Given the description of an element on the screen output the (x, y) to click on. 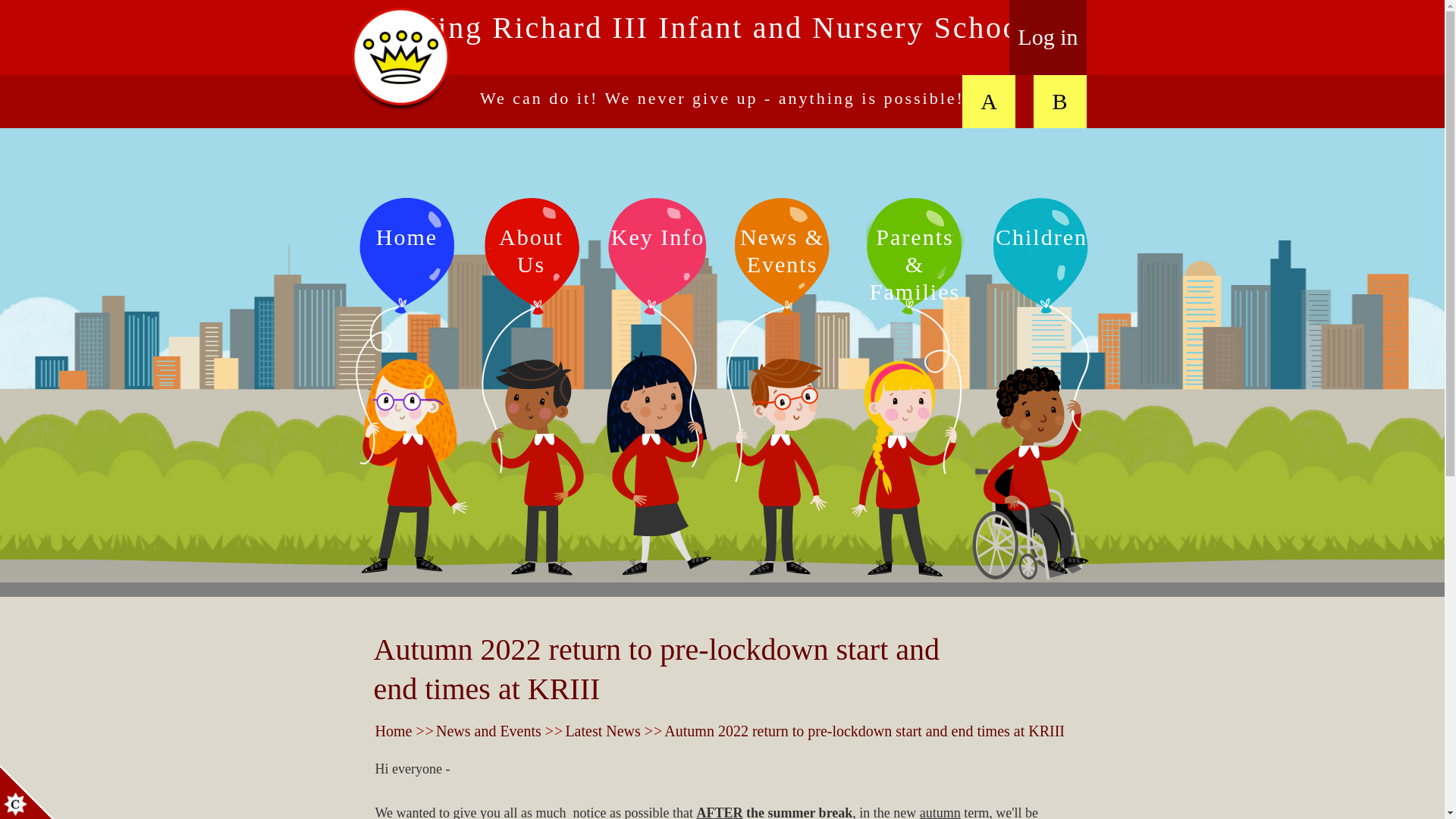
News and Events (488, 730)
Home Page (399, 59)
Latest News (602, 730)
Log in (1047, 37)
Home (393, 730)
